Given the description of an element on the screen output the (x, y) to click on. 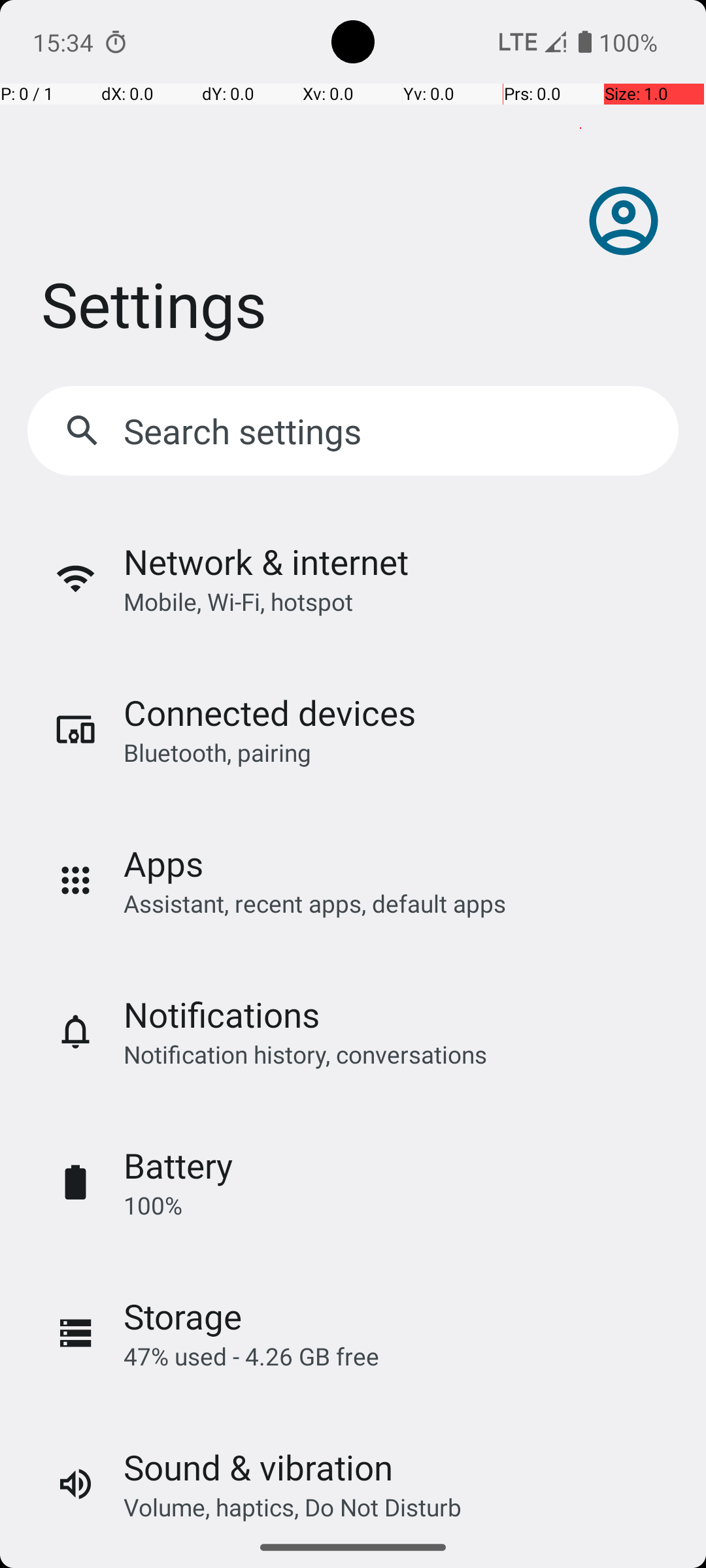
47% used - 4.26 GB free Element type: android.widget.TextView (251, 1355)
